Given the description of an element on the screen output the (x, y) to click on. 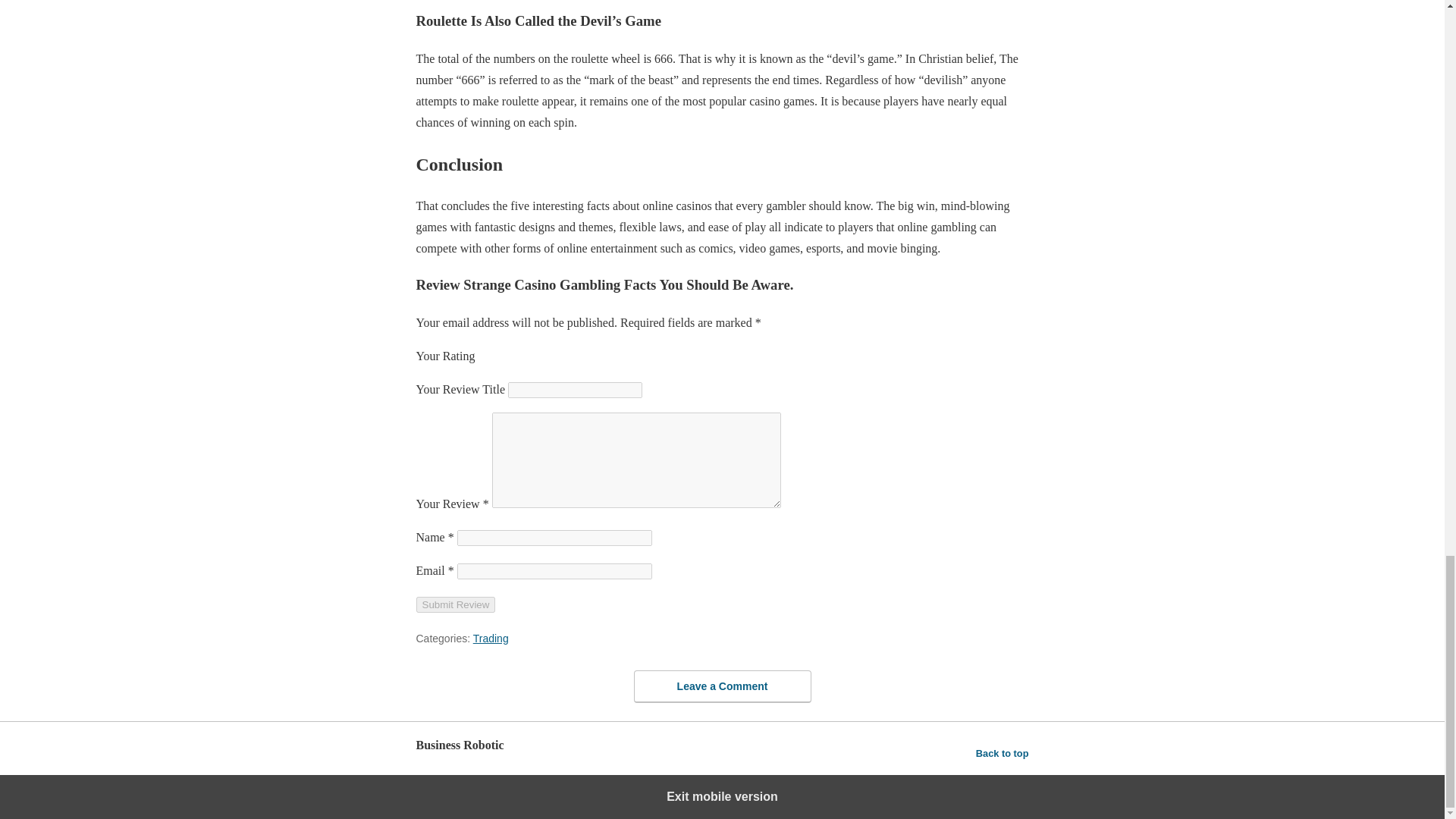
Submit Review (454, 604)
Trading (490, 638)
Back to top (1002, 753)
Submit Review (454, 604)
Leave a Comment (721, 686)
